Given the description of an element on the screen output the (x, y) to click on. 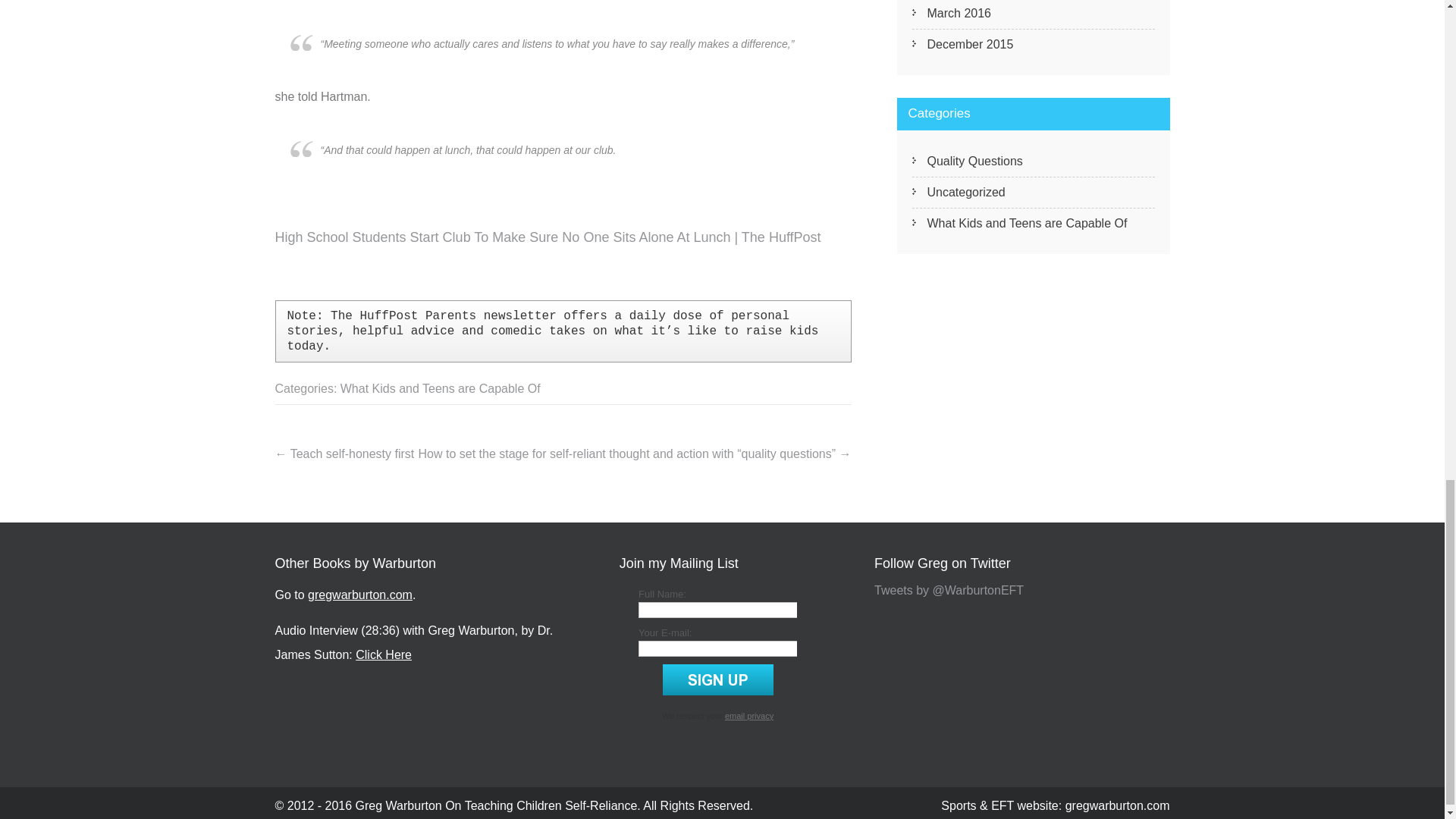
December 2015 (1032, 44)
Privacy Policy (749, 715)
What Kids and Teens are Capable Of (1032, 223)
gregwarburton.com (359, 594)
Uncategorized (1032, 192)
What Kids and Teens are Capable Of (440, 388)
March 2016 (1032, 14)
View all posts in What Kids and Teens are Capable Of (440, 388)
Quality Questions (1032, 161)
